Given the description of an element on the screen output the (x, y) to click on. 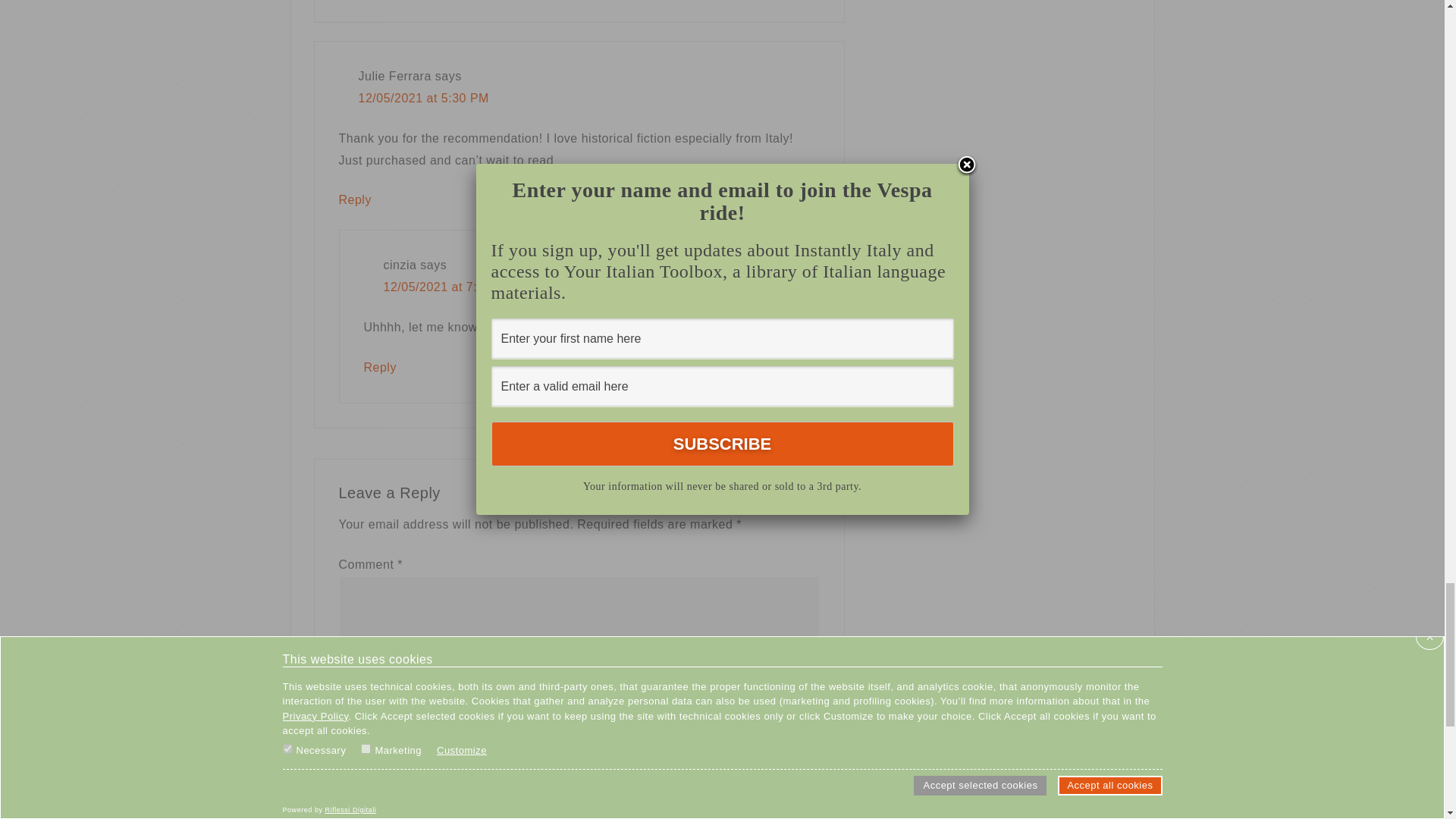
Reply (380, 367)
Reply (354, 199)
